Given the description of an element on the screen output the (x, y) to click on. 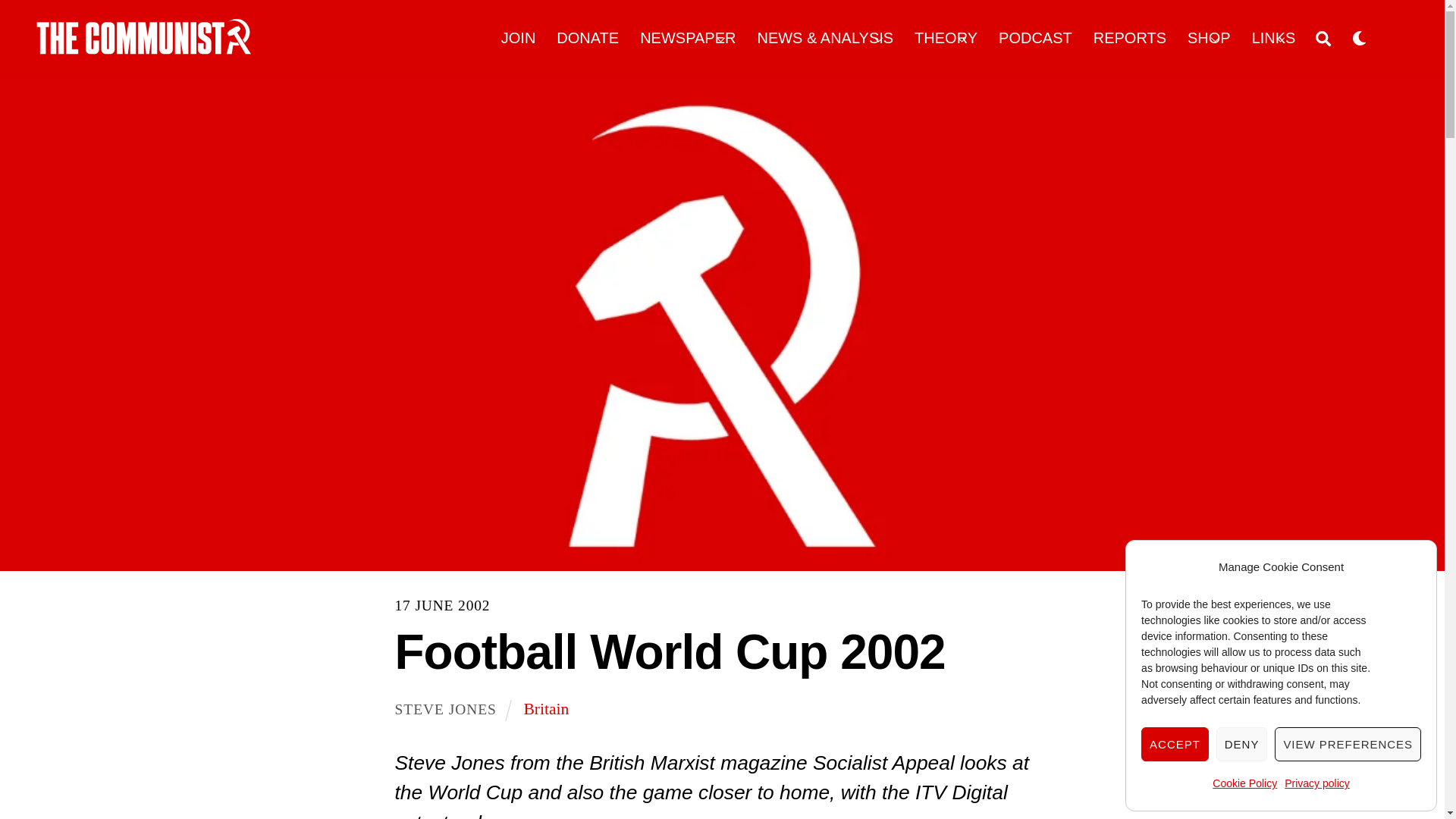
NEWSPAPER (688, 37)
DONATE (587, 37)
Privacy policy (1316, 784)
ACCEPT (1174, 744)
The Communist (143, 49)
DENY (1241, 744)
Cookie Policy (1244, 784)
VIEW PREFERENCES (1348, 744)
The Communist (143, 37)
JOIN (518, 37)
